Given the description of an element on the screen output the (x, y) to click on. 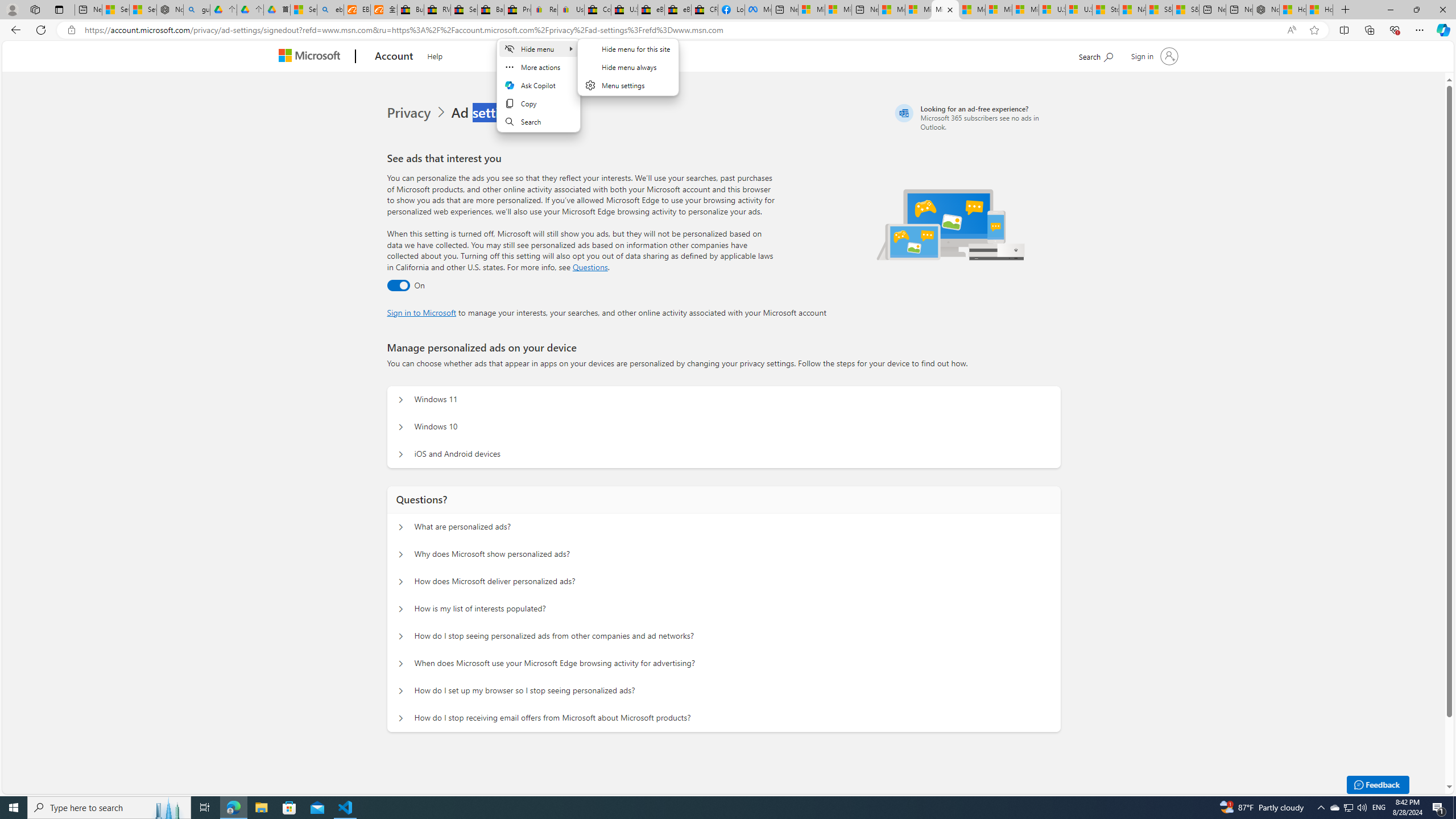
Mini menu on text selection (538, 91)
Ad settings toggle (398, 285)
Search Microsoft.com (1095, 54)
Hide menu always (628, 67)
Close (1442, 9)
New tab (1239, 9)
